Given the description of an element on the screen output the (x, y) to click on. 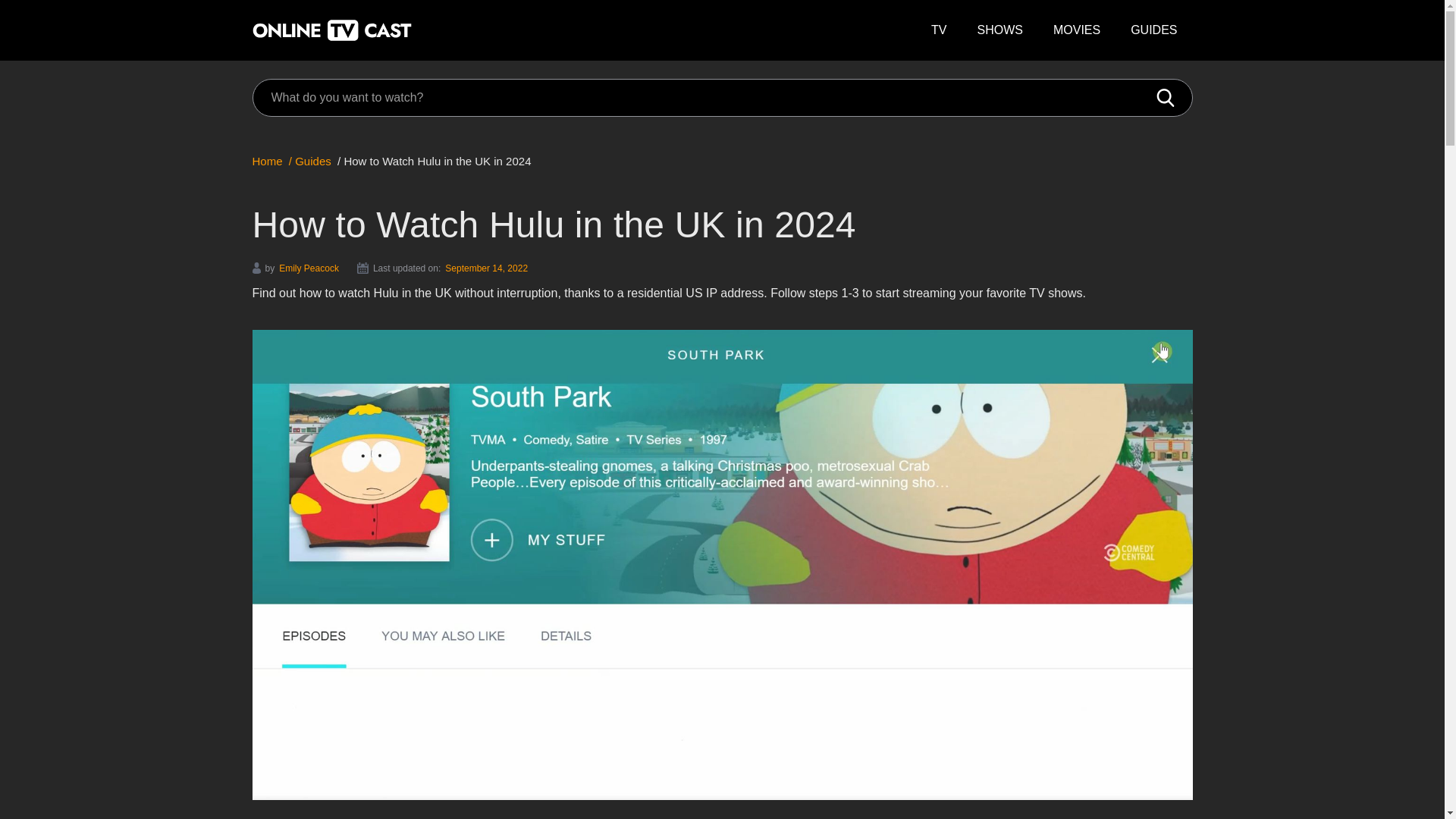
MOVIES (1076, 30)
SHOWS (998, 30)
Home   (269, 161)
Home (269, 161)
GUIDES (1153, 30)
Guides (312, 161)
TV (937, 30)
